Given the description of an element on the screen output the (x, y) to click on. 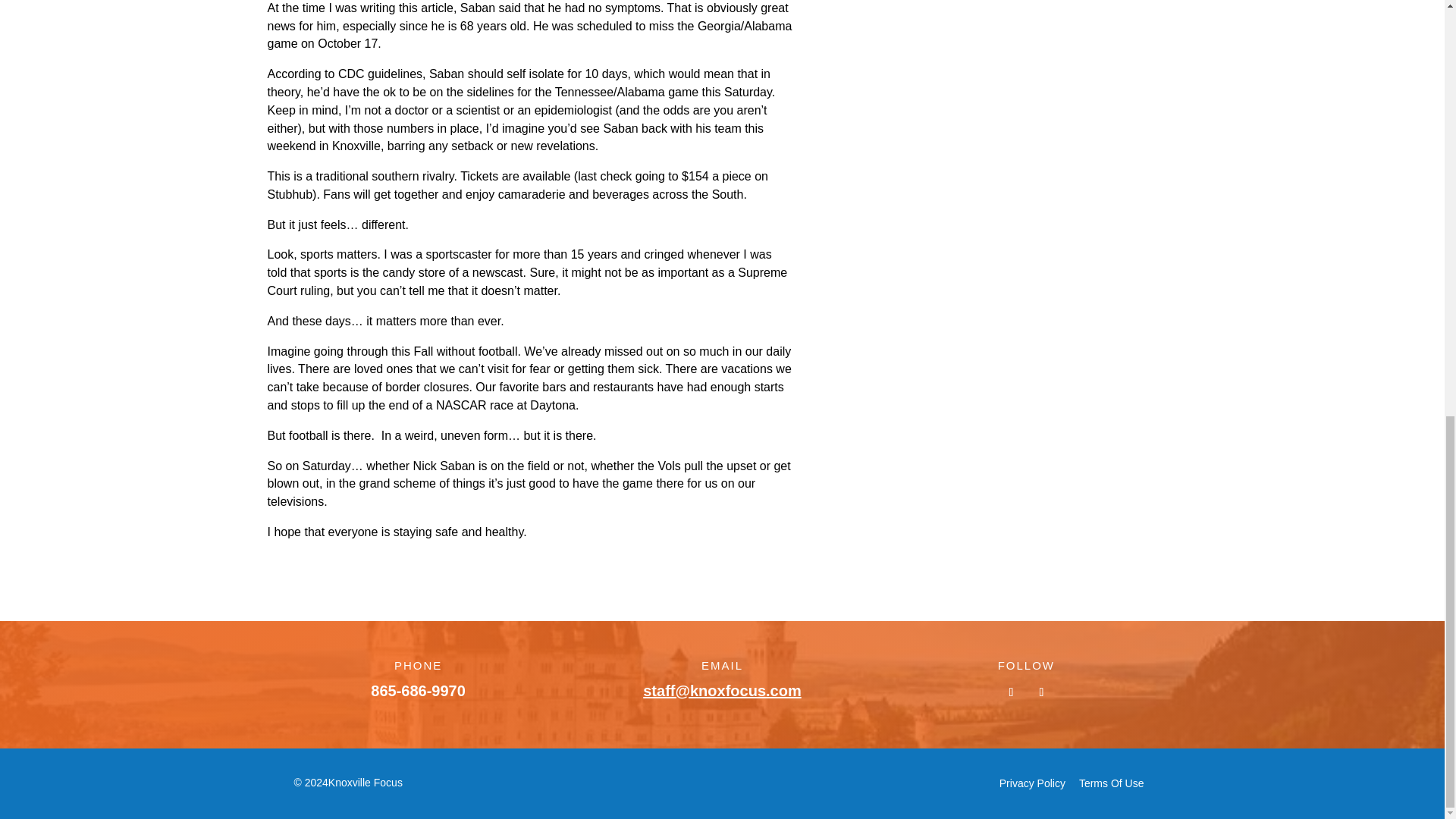
Follow on X (1040, 692)
Follow on Facebook (1010, 692)
